Given the description of an element on the screen output the (x, y) to click on. 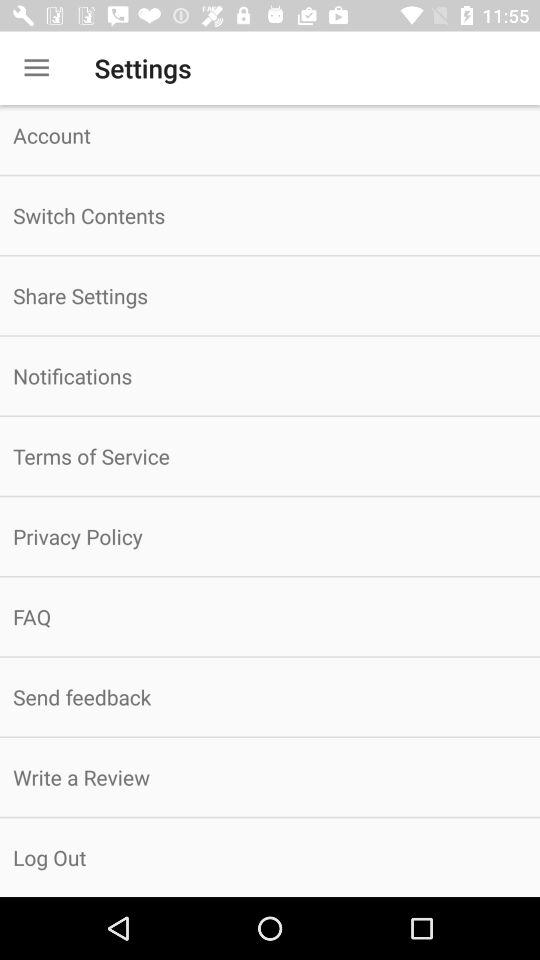
choose the icon above the switch contents (270, 139)
